Given the description of an element on the screen output the (x, y) to click on. 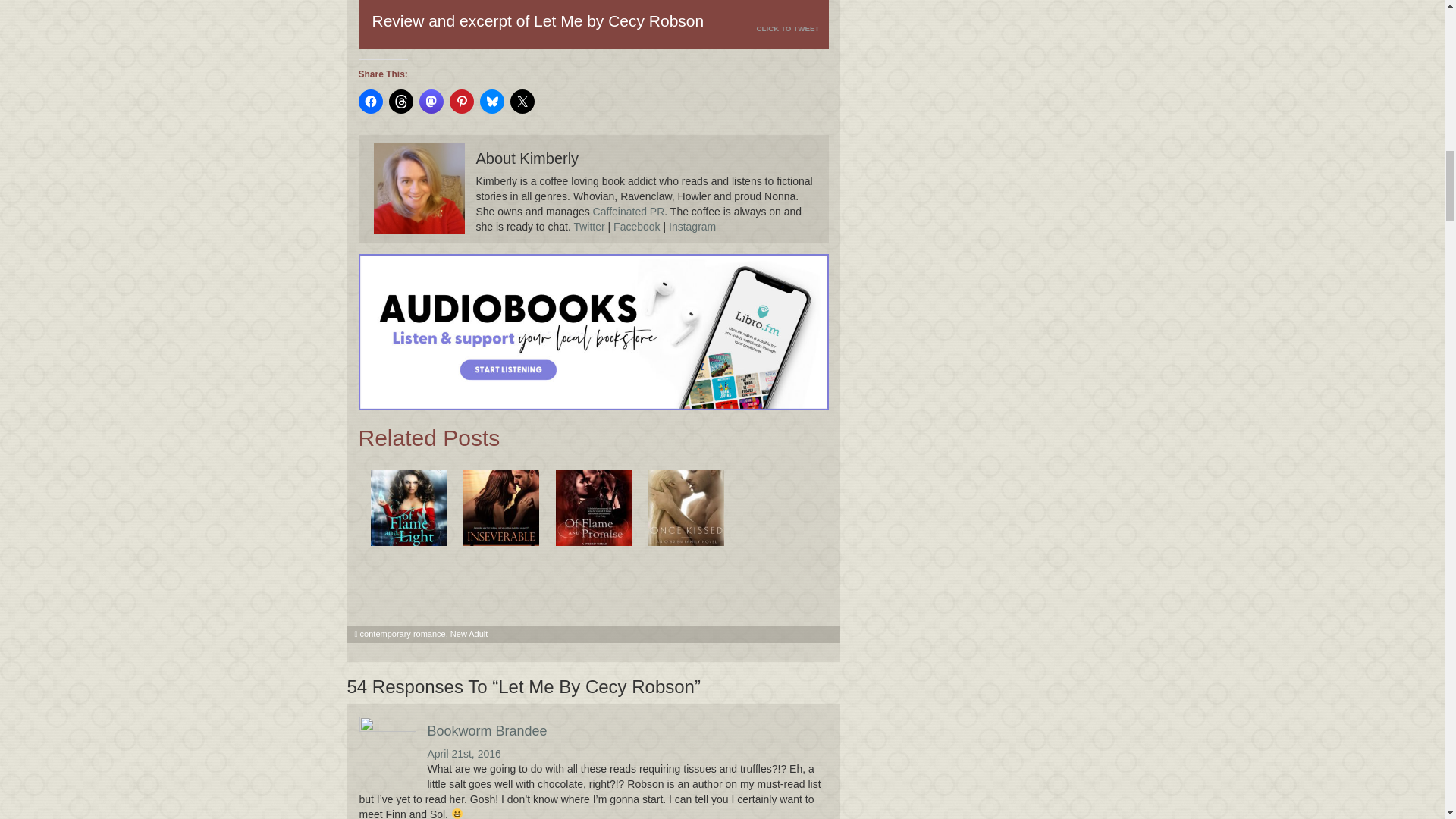
Click to share on X (521, 101)
Click to share on Threads (400, 101)
Click to share on Mastodon (430, 101)
Click to share on Pinterest (460, 101)
Click to share on Bluesky (491, 101)
Click to share on Facebook (369, 101)
